Given the description of an element on the screen output the (x, y) to click on. 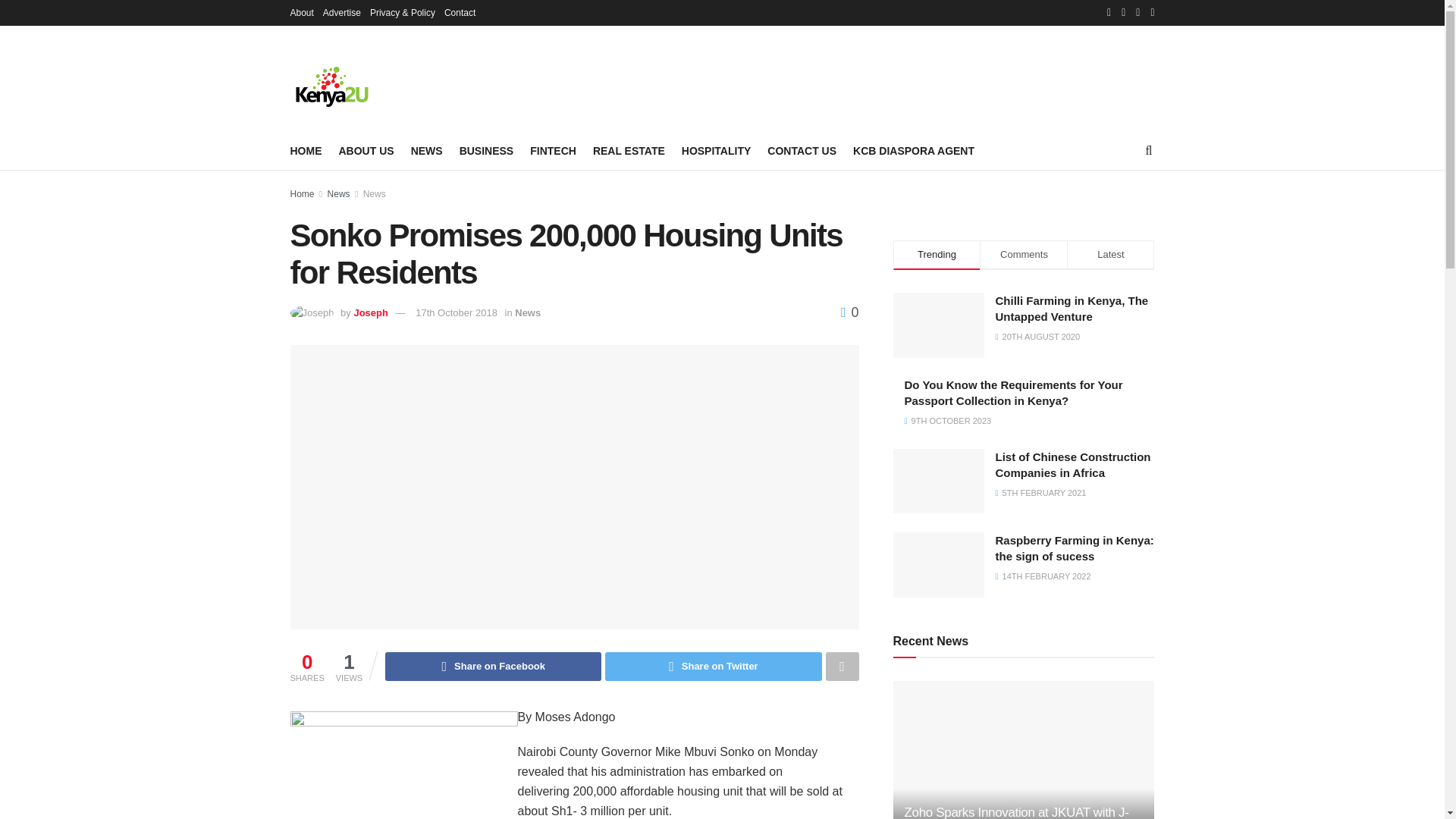
BUSINESS (486, 150)
CONTACT US (801, 150)
HOSPITALITY (716, 150)
Contact (460, 12)
News (373, 194)
Joseph (370, 312)
ABOUT US (365, 150)
NEWS (426, 150)
FINTECH (552, 150)
Home (301, 194)
KCB DIASPORA AGENT (913, 150)
REAL ESTATE (628, 150)
Advertise (342, 12)
About (301, 12)
HOME (305, 150)
